Given the description of an element on the screen output the (x, y) to click on. 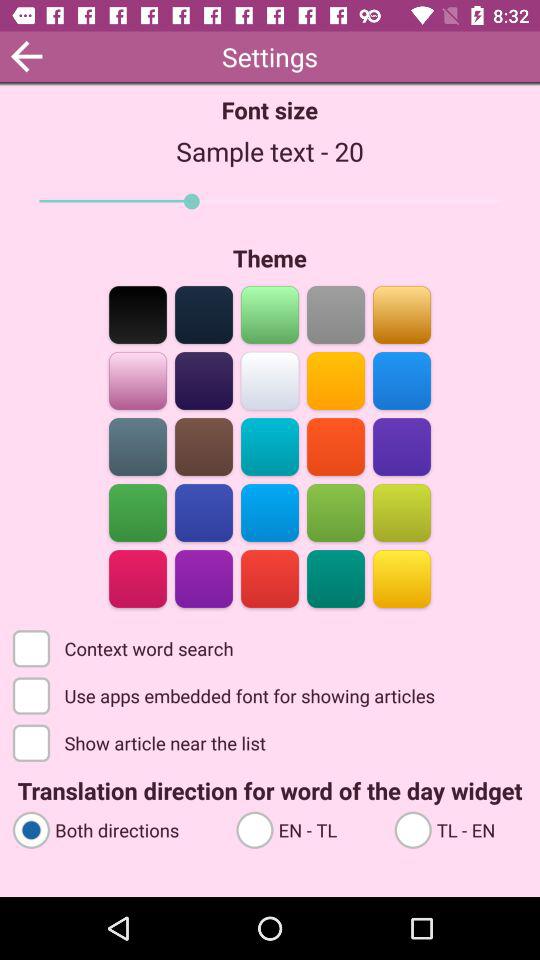
turn off item above show article near item (225, 694)
